Given the description of an element on the screen output the (x, y) to click on. 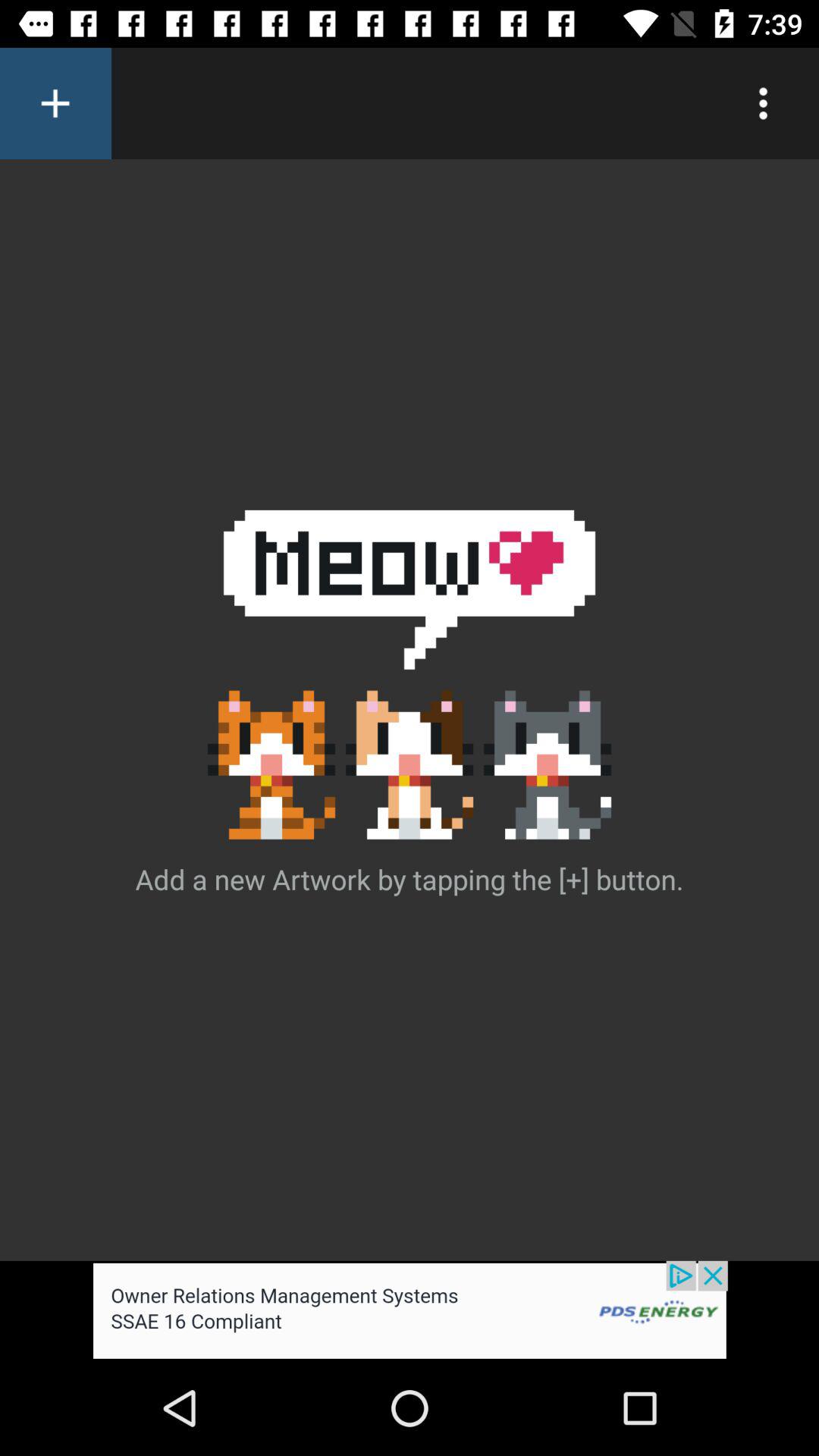
advertisement (409, 1310)
